Given the description of an element on the screen output the (x, y) to click on. 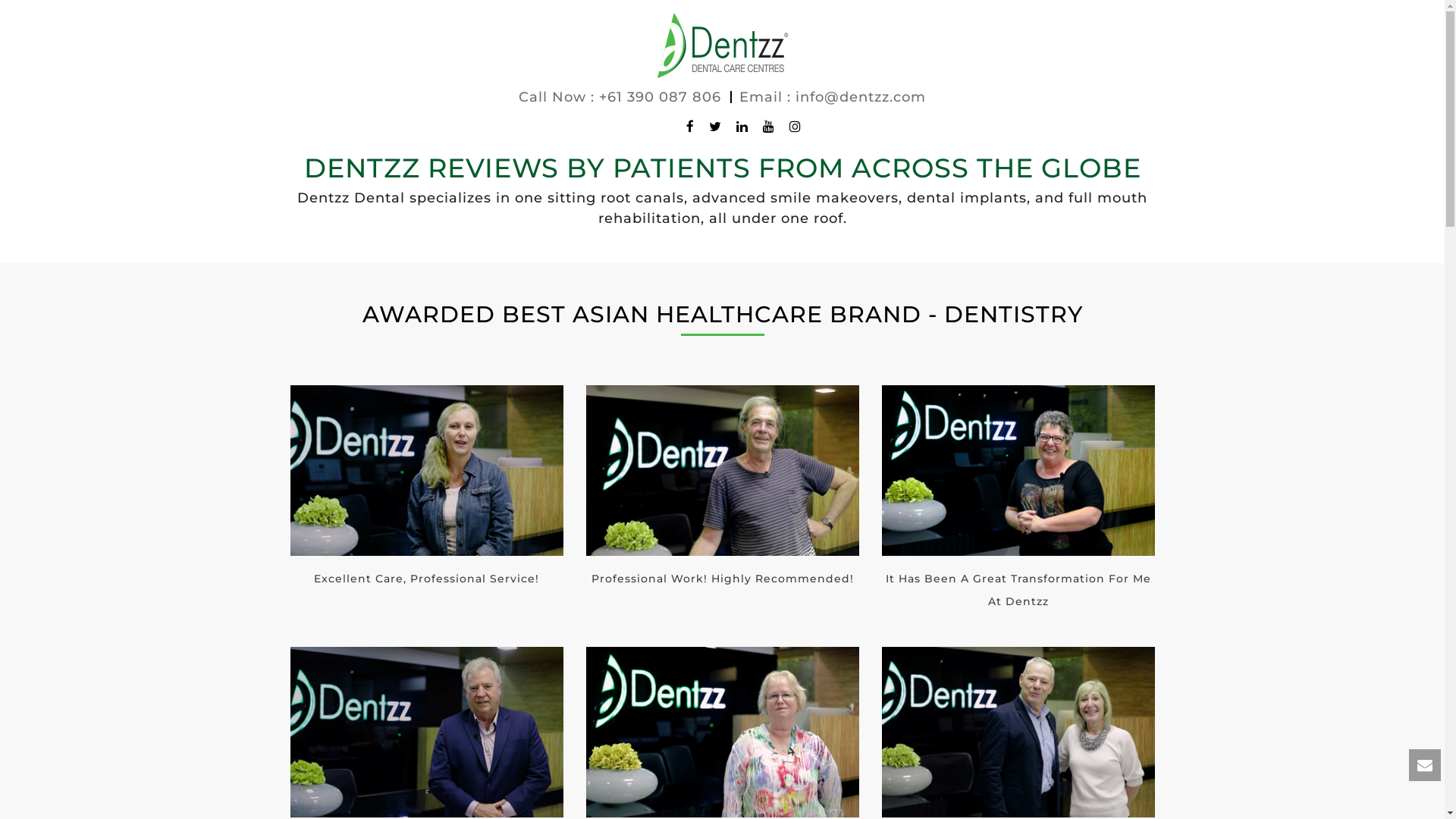
Email : info@dentzz.com Element type: text (832, 96)
It Has Been A Great Transformation For Me At Dentzz Element type: text (1017, 504)
Excellent Care, Professional Service! Element type: text (425, 493)
Professional Work! Highly Recommended! Element type: text (721, 493)
Call Now : +61 390 087 806 Element type: text (619, 96)
